Given the description of an element on the screen output the (x, y) to click on. 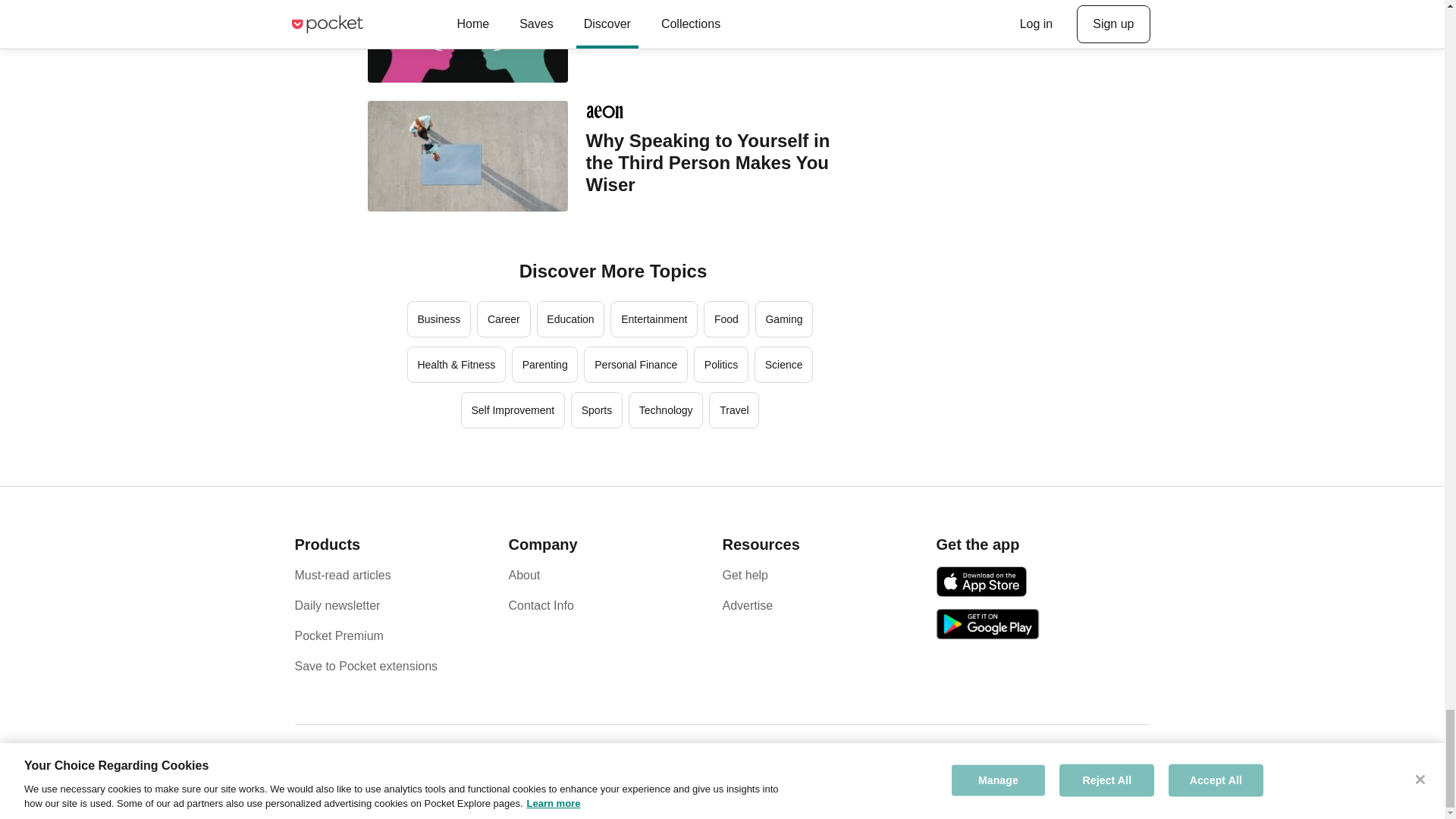
Instagram (1129, 766)
Facebook (1091, 766)
Twitter (1110, 766)
